Given the description of an element on the screen output the (x, y) to click on. 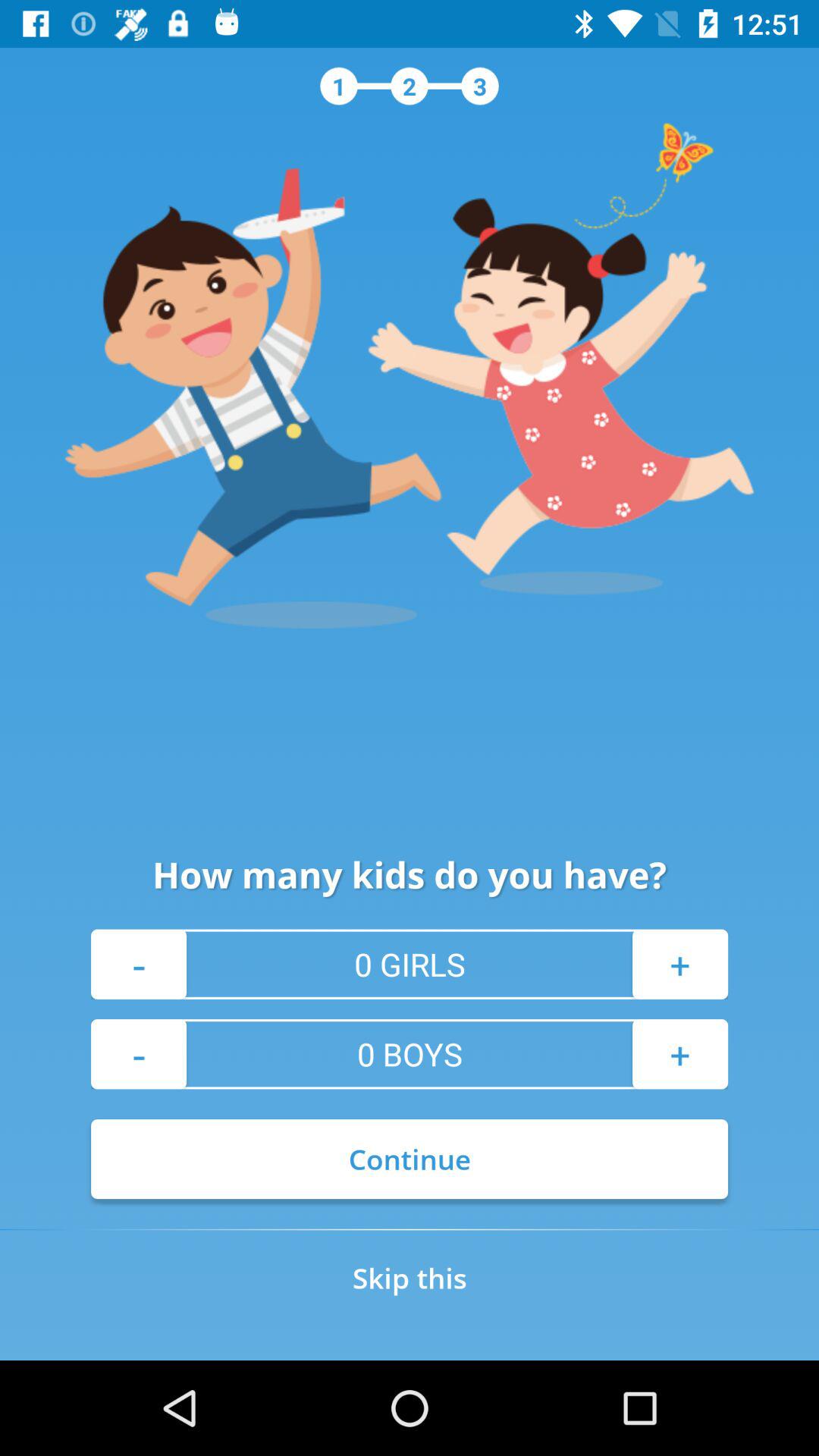
turn on the continue icon (409, 1158)
